Given the description of an element on the screen output the (x, y) to click on. 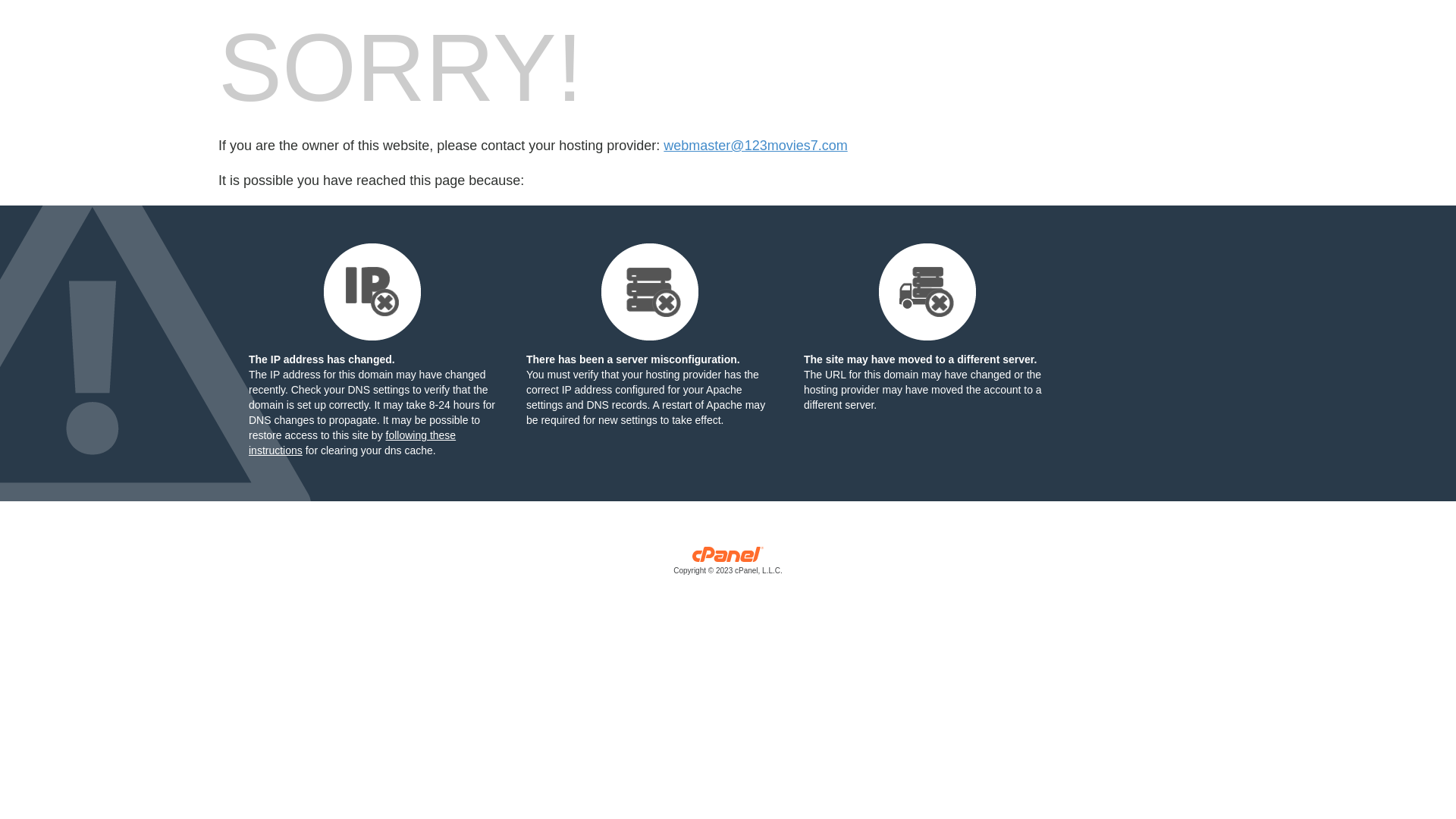
following these instructions Element type: text (351, 442)
webmaster@123movies7.com Element type: text (755, 145)
